Given the description of an element on the screen output the (x, y) to click on. 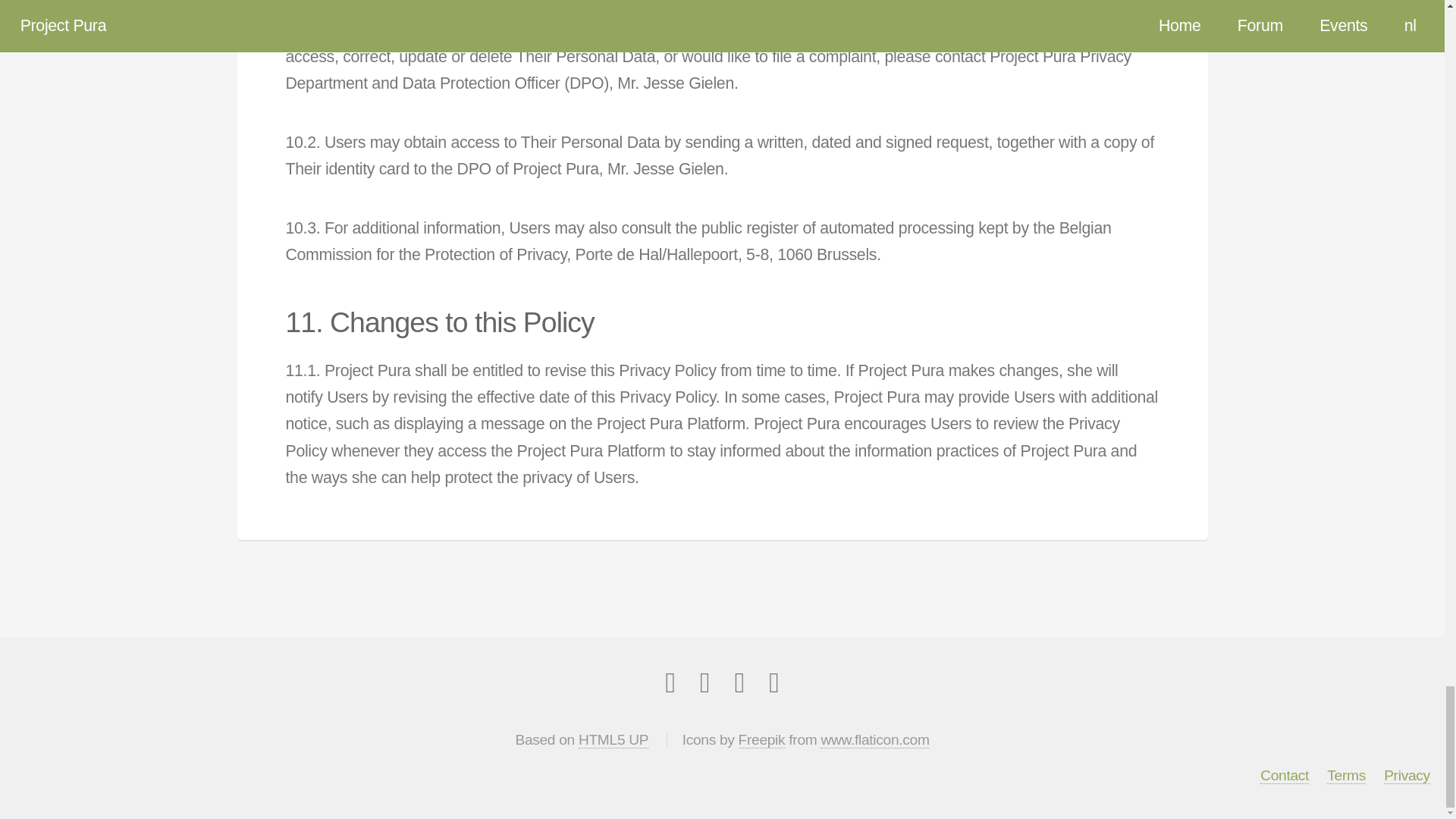
Flaticon (874, 740)
Contact (1284, 775)
HTML5 UP (612, 740)
Privacy (1406, 775)
Freepik (762, 740)
Terms (1345, 775)
Freepik (762, 740)
www.flaticon.com (874, 740)
